Given the description of an element on the screen output the (x, y) to click on. 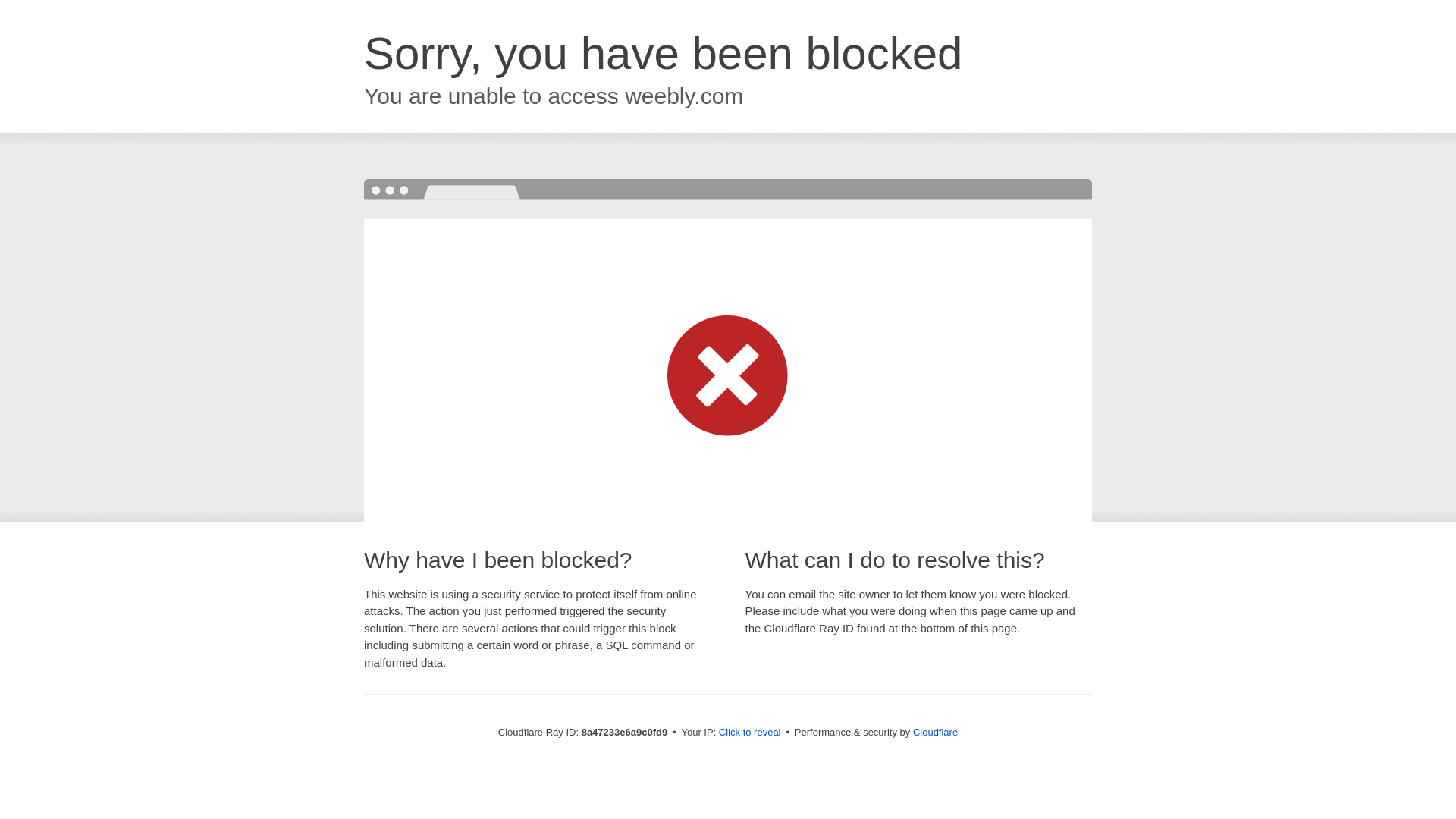
Cloudflare (935, 731)
Click to reveal (749, 732)
